Given the description of an element on the screen output the (x, y) to click on. 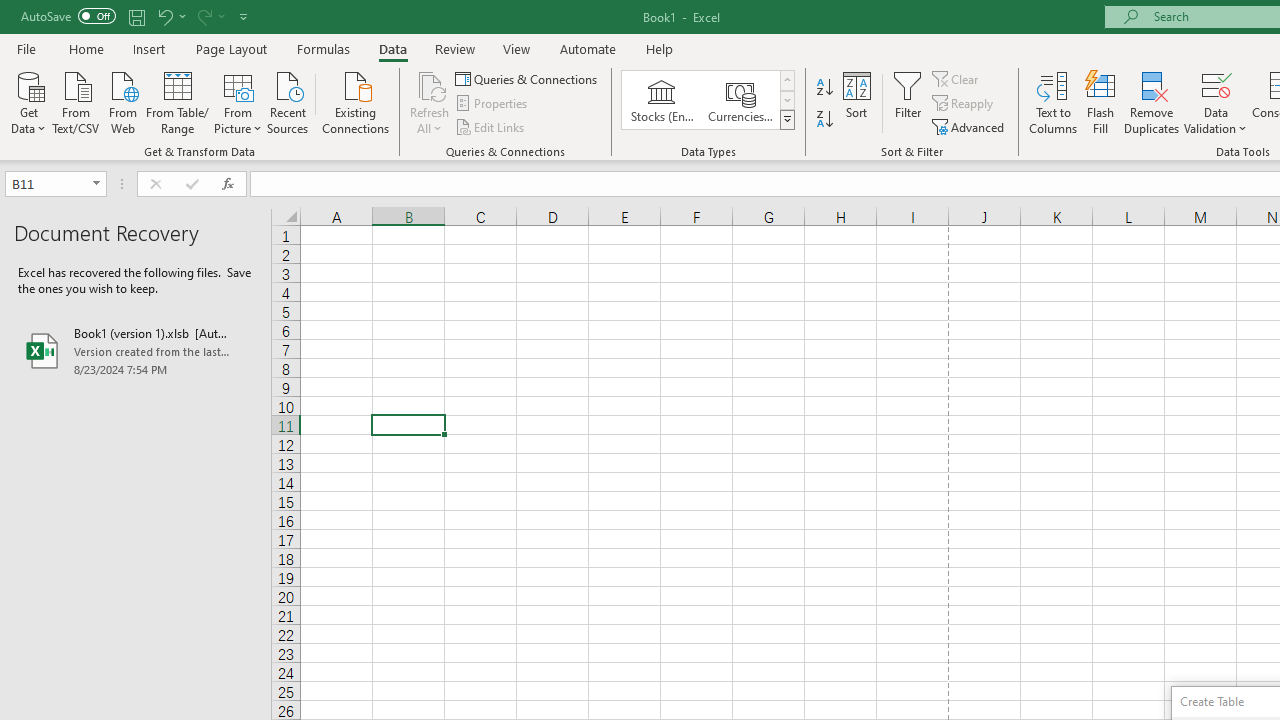
Sort Z to A (824, 119)
Get Data (28, 101)
Sort A to Z (824, 87)
From Text/CSV (75, 101)
From Web (122, 101)
Stocks (English) (662, 100)
Flash Fill (1101, 102)
Row up (786, 79)
